Given the description of an element on the screen output the (x, y) to click on. 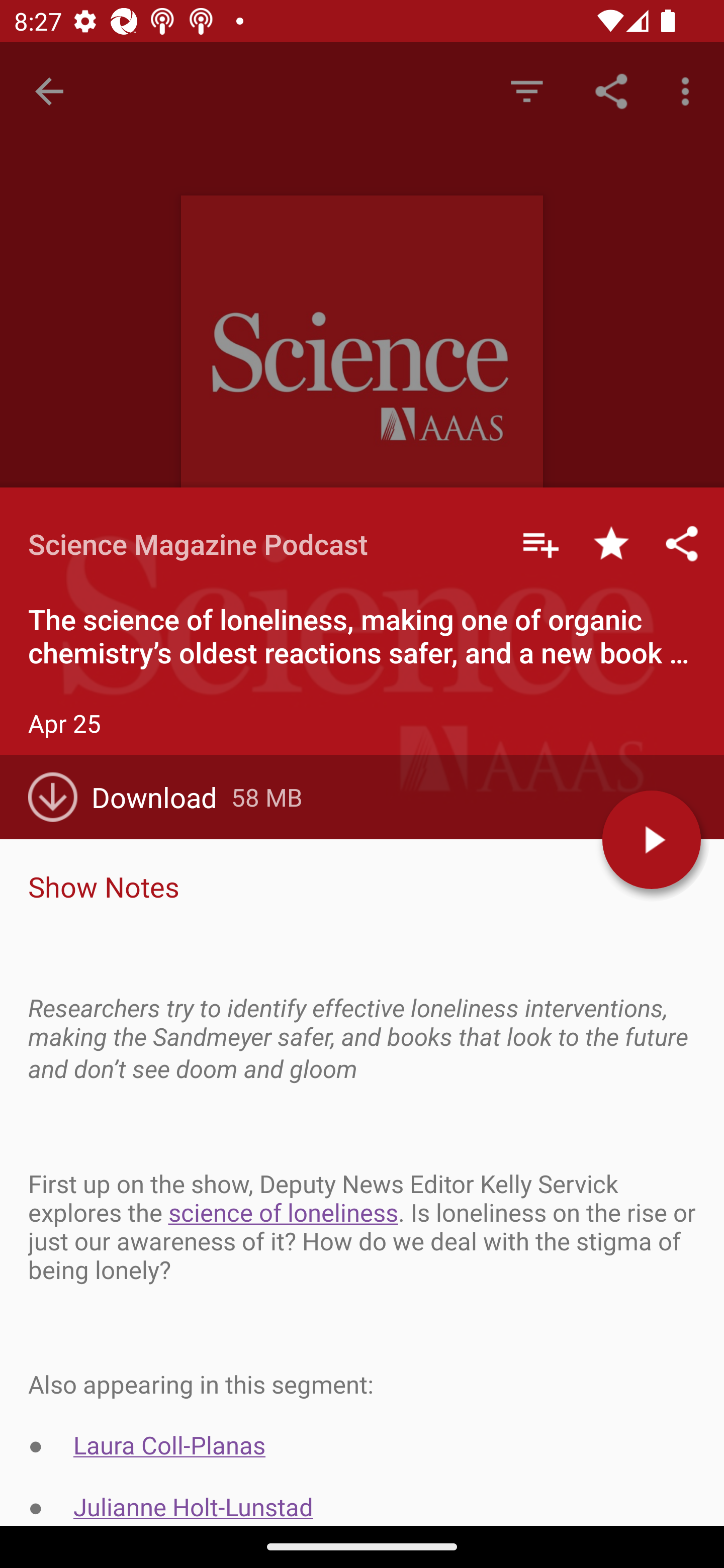
Navigate up (49, 91)
Hide Episodes (526, 90)
Share Link (611, 90)
More options (688, 90)
Download (129, 797)
